Given the description of an element on the screen output the (x, y) to click on. 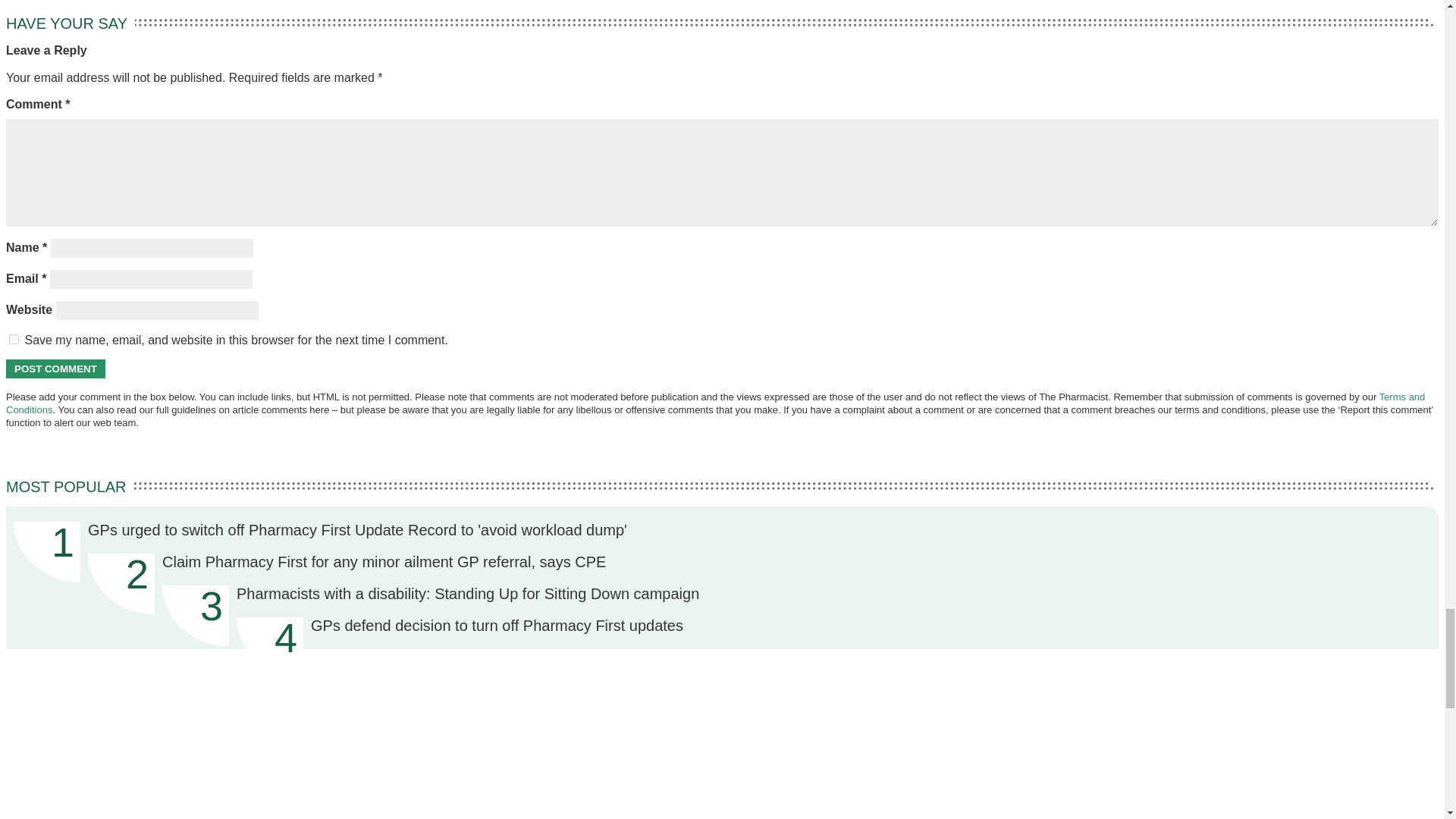
yes (13, 338)
Post Comment (54, 368)
